Given the description of an element on the screen output the (x, y) to click on. 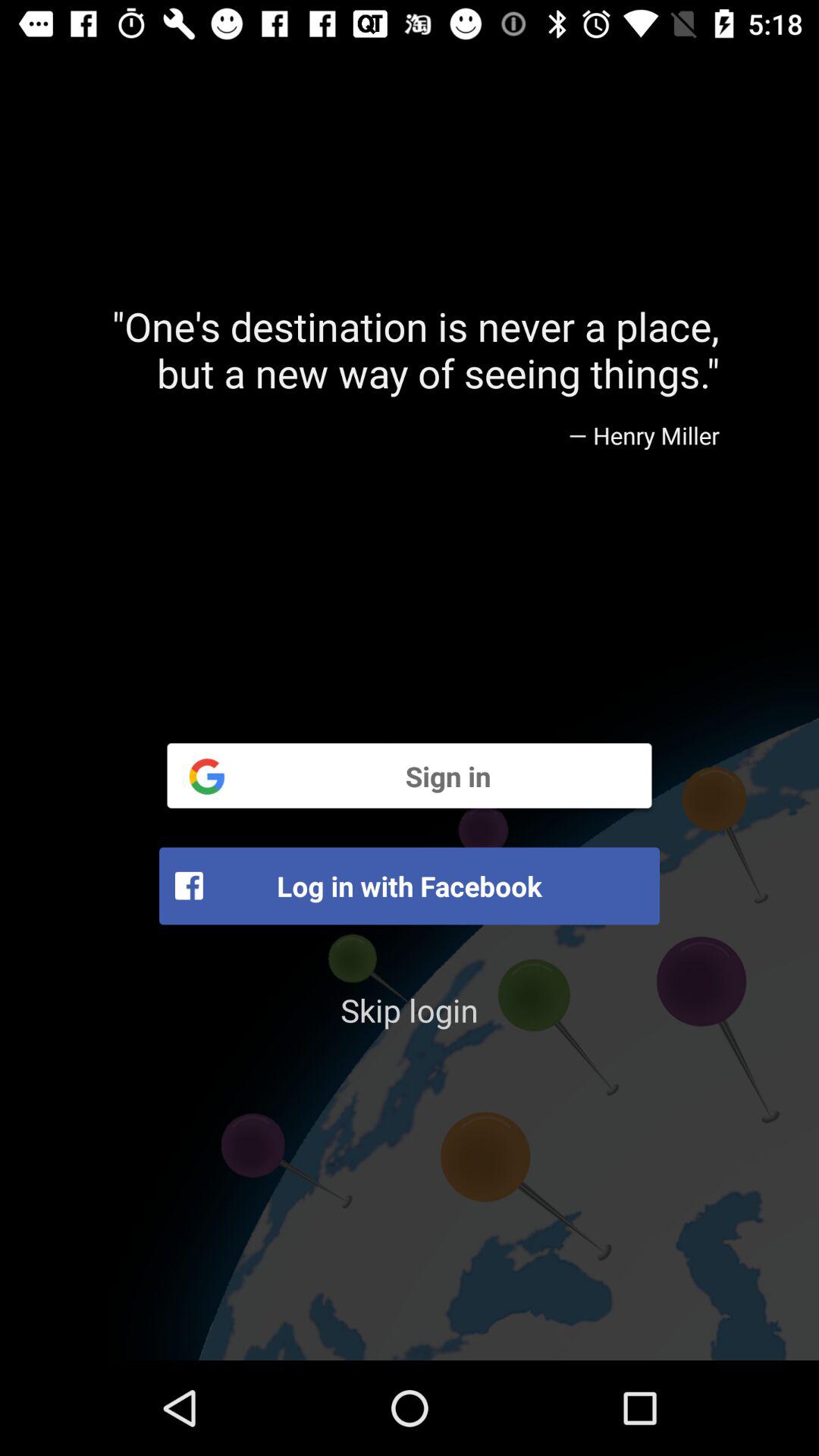
turn off icon above skip login item (409, 885)
